Given the description of an element on the screen output the (x, y) to click on. 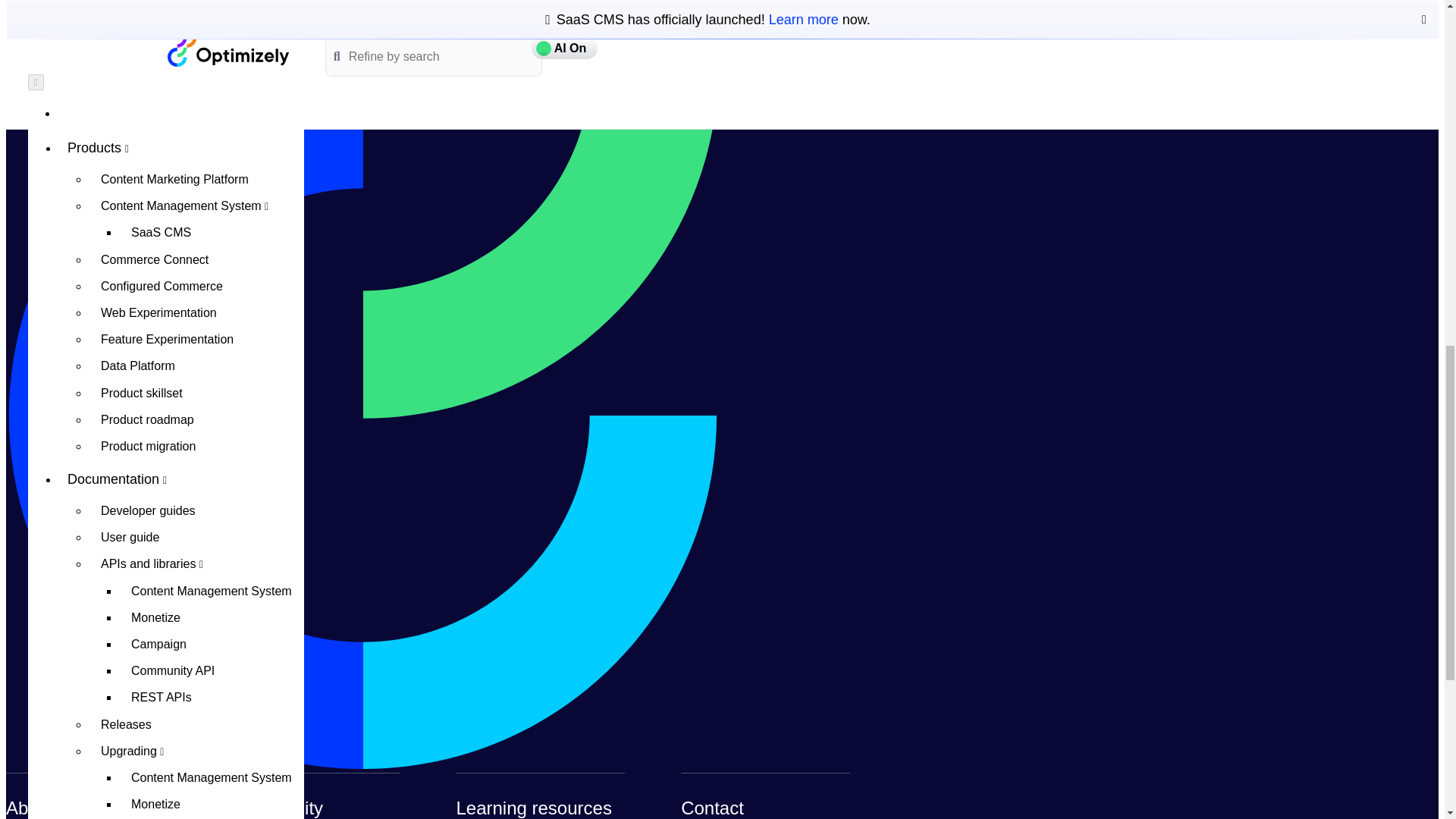
Benefits (196, 190)
Digital badges (196, 297)
Forms (211, 46)
Service API (211, 99)
Monetize (211, 2)
OMVP events (196, 216)
OMVP members (196, 243)
Personalization (211, 72)
Application and nomination (196, 270)
Become a member (196, 163)
OMVPs (181, 132)
